Given the description of an element on the screen output the (x, y) to click on. 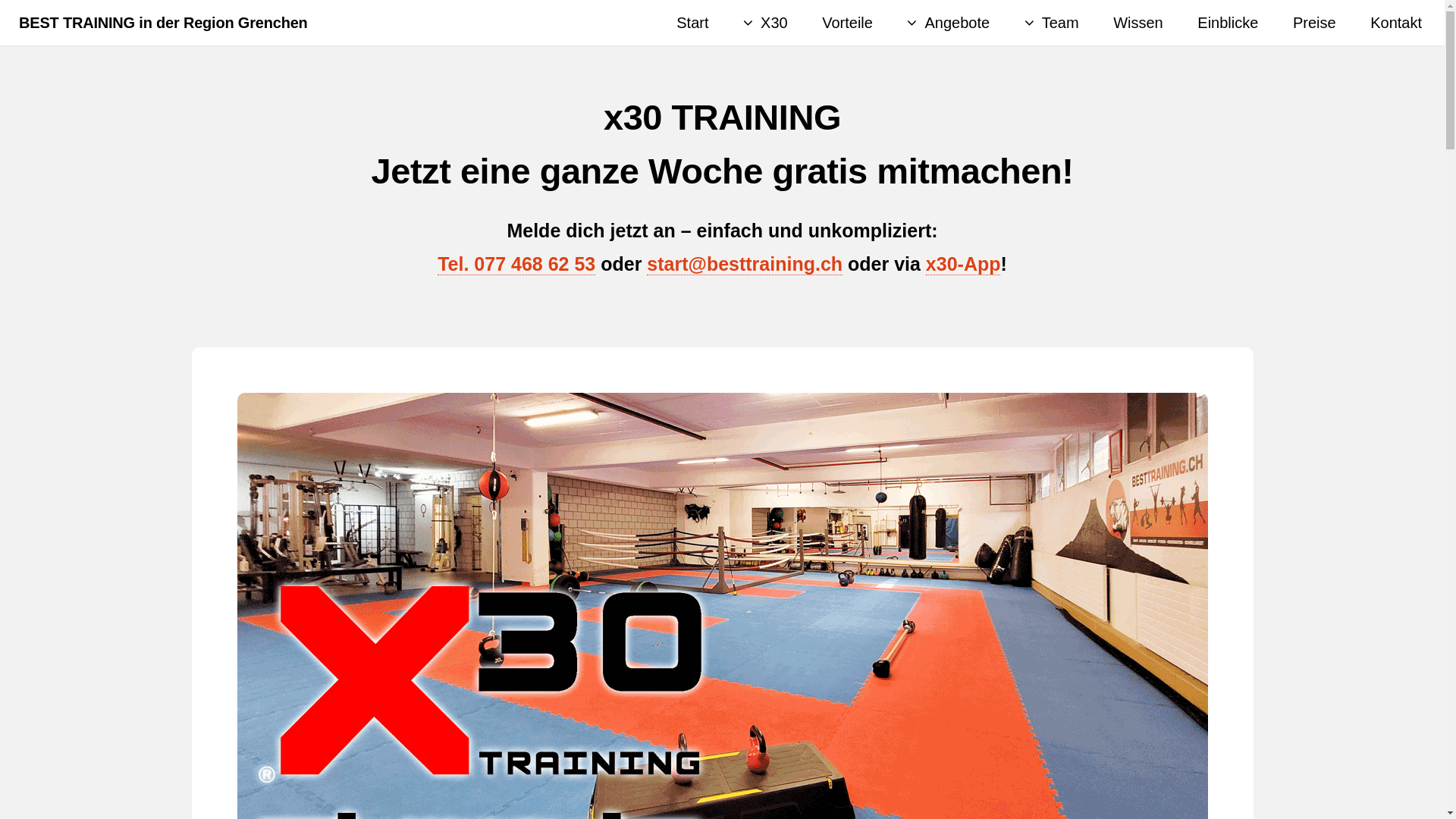
start@besttraining.ch Element type: text (744, 264)
Wissen Element type: text (1138, 22)
X30 Element type: text (765, 22)
Kontakt Element type: text (1395, 22)
Preise Element type: text (1314, 22)
x30-App Element type: text (963, 264)
Start Element type: text (692, 22)
Tel. 077 468 62 53 Element type: text (516, 264)
Team Element type: text (1051, 22)
Angebote Element type: text (947, 22)
Einblicke Element type: text (1227, 22)
BEST TRAINING in der Region Grenchen Element type: text (162, 22)
Vorteile Element type: text (847, 22)
